Given the description of an element on the screen output the (x, y) to click on. 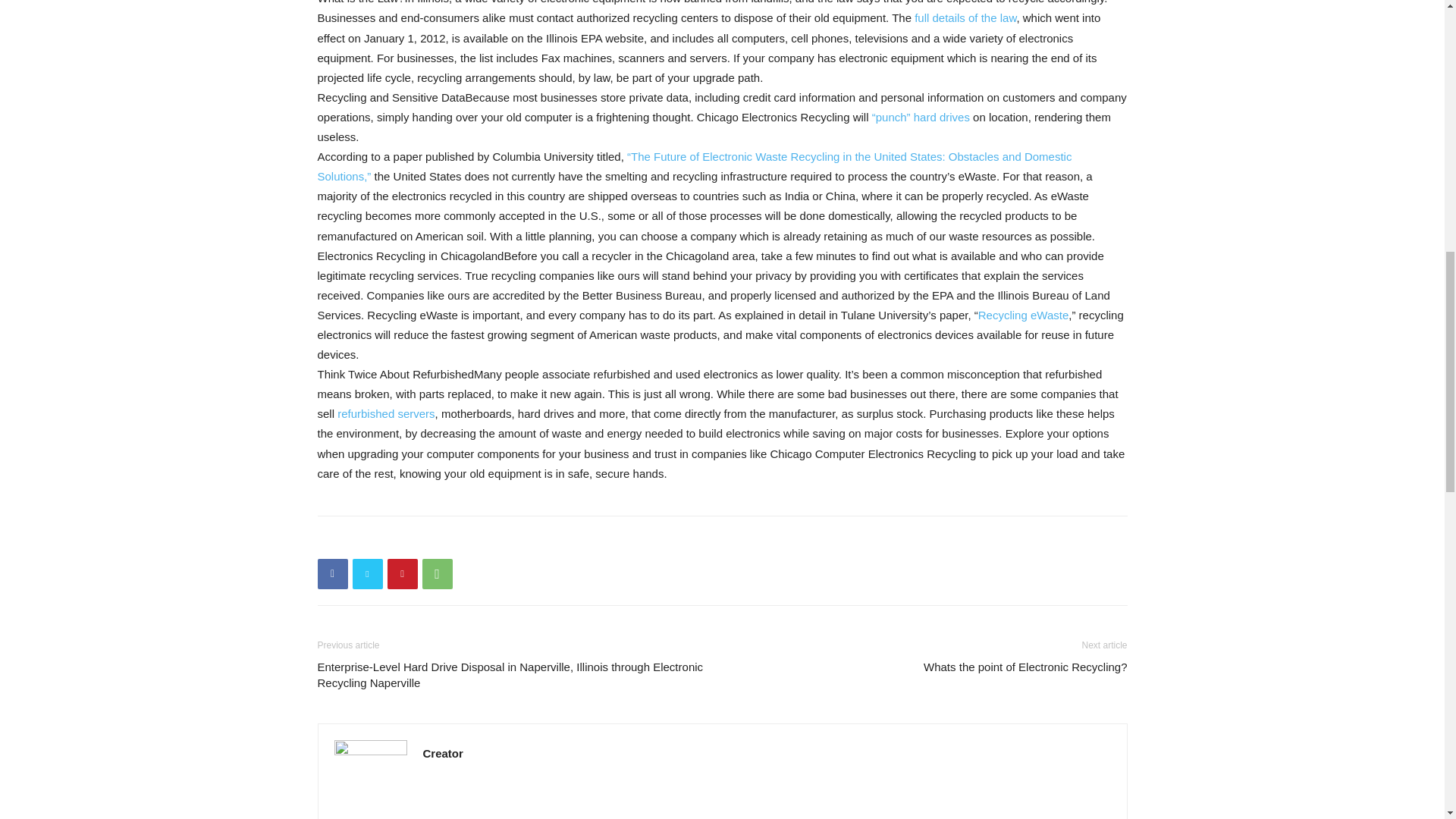
Twitter (366, 573)
Pinterest (401, 573)
Facebook (332, 573)
